Given the description of an element on the screen output the (x, y) to click on. 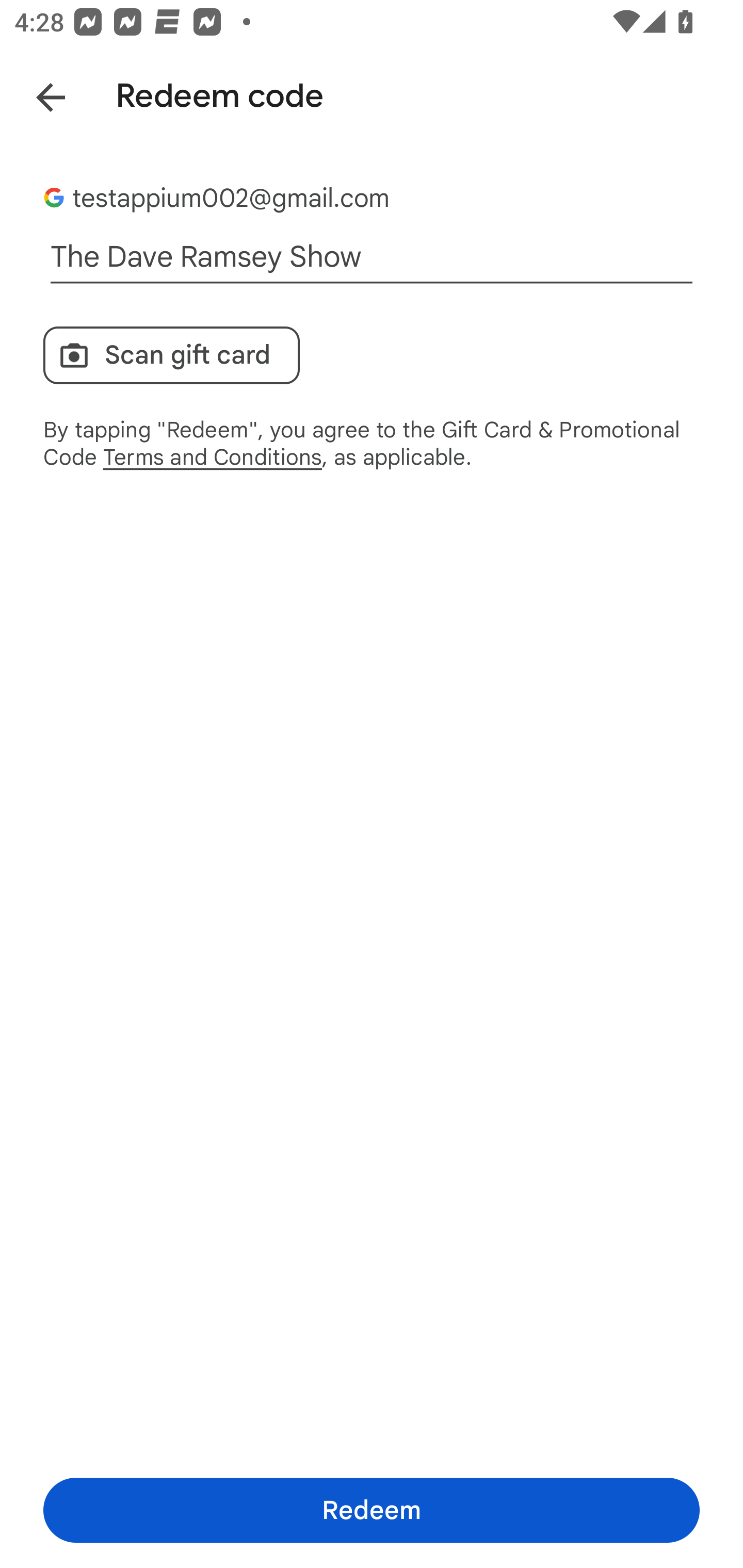
Back (36, 94)
The Dave Ramsey Show (371, 256)
Scan gift card (171, 355)
Redeem (371, 1509)
